Given the description of an element on the screen output the (x, y) to click on. 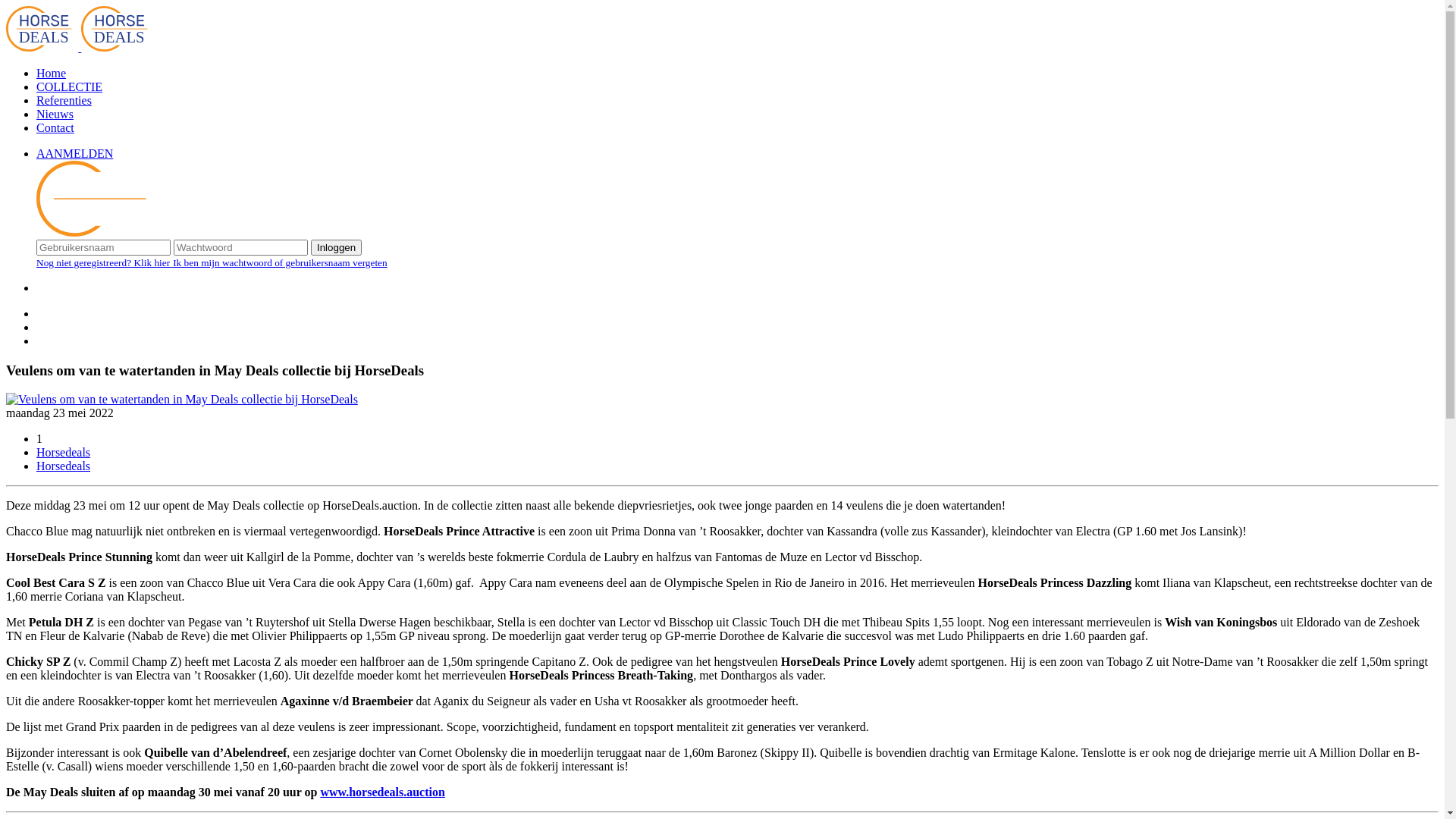
Home Element type: text (50, 72)
COLLECTIE Element type: text (69, 86)
AANMELDEN Element type: text (74, 153)
Horsedeals Element type: text (63, 465)
Inloggen Element type: text (335, 247)
Nieuws Element type: text (54, 113)
Contact Element type: text (55, 127)
Ik ben mijn wachtwoord of gebruikersnaam vergeten Element type: text (279, 261)
Referenties Element type: text (63, 100)
Nog niet geregistreerd? Klik hier Element type: text (104, 261)
www.horsedeals.auction Element type: text (382, 791)
Horsedeals Element type: text (63, 451)
